Given the description of an element on the screen output the (x, y) to click on. 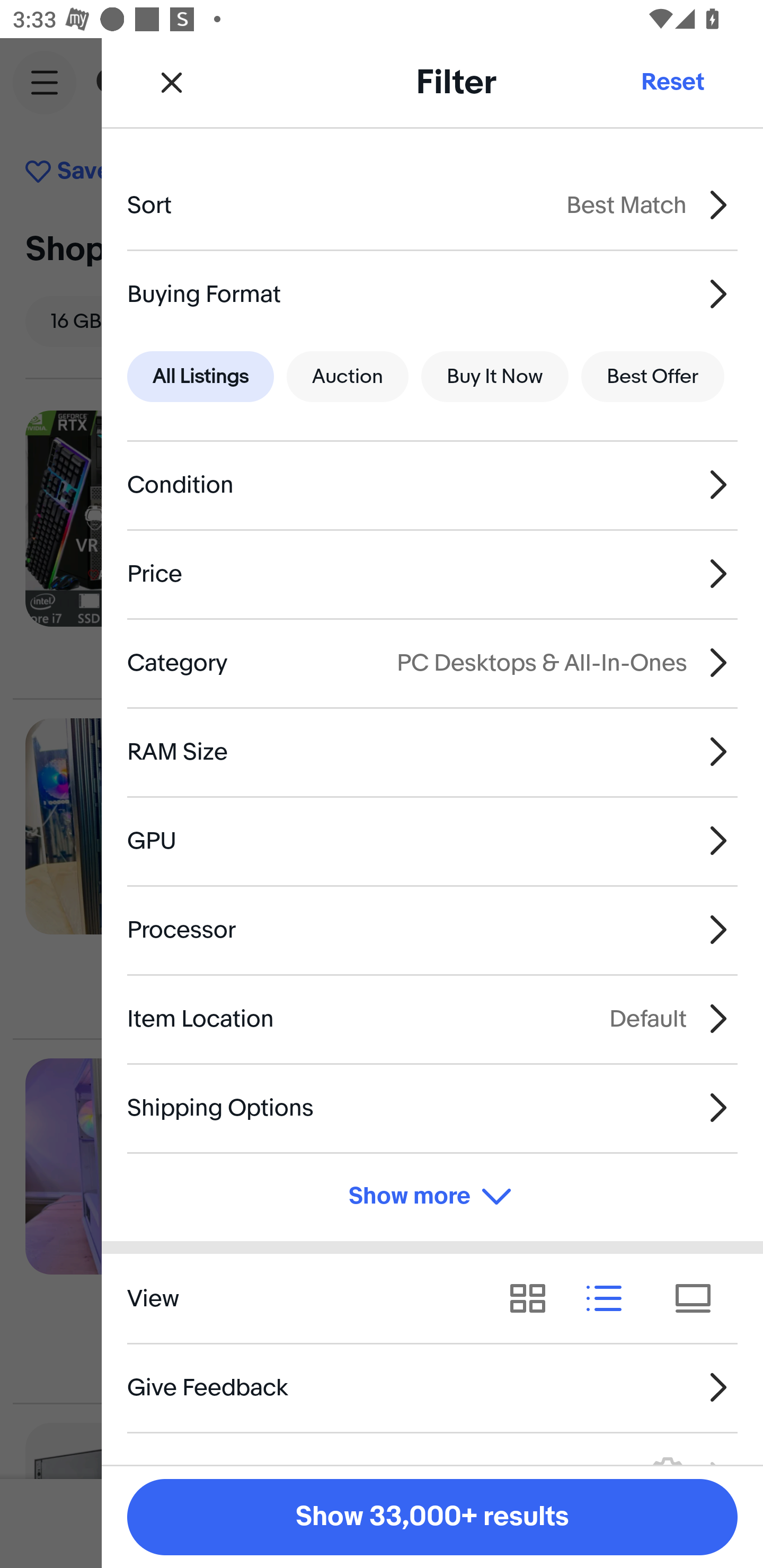
Close Filter (171, 81)
Reset (672, 81)
Buying Format (432, 293)
All Listings (200, 376)
Auction (347, 376)
Buy It Now (494, 376)
Best Offer (652, 376)
Condition (432, 484)
Price (432, 573)
Category PC Desktops & All-In-Ones (432, 662)
RAM Size (432, 751)
GPU (432, 840)
Processor (432, 929)
Item Location Default (432, 1018)
Shipping Options (432, 1107)
Show more (432, 1196)
View results as grid (533, 1297)
View results as list (610, 1297)
View results as tiles (699, 1297)
Show 33,000+ results (432, 1516)
